Given the description of an element on the screen output the (x, y) to click on. 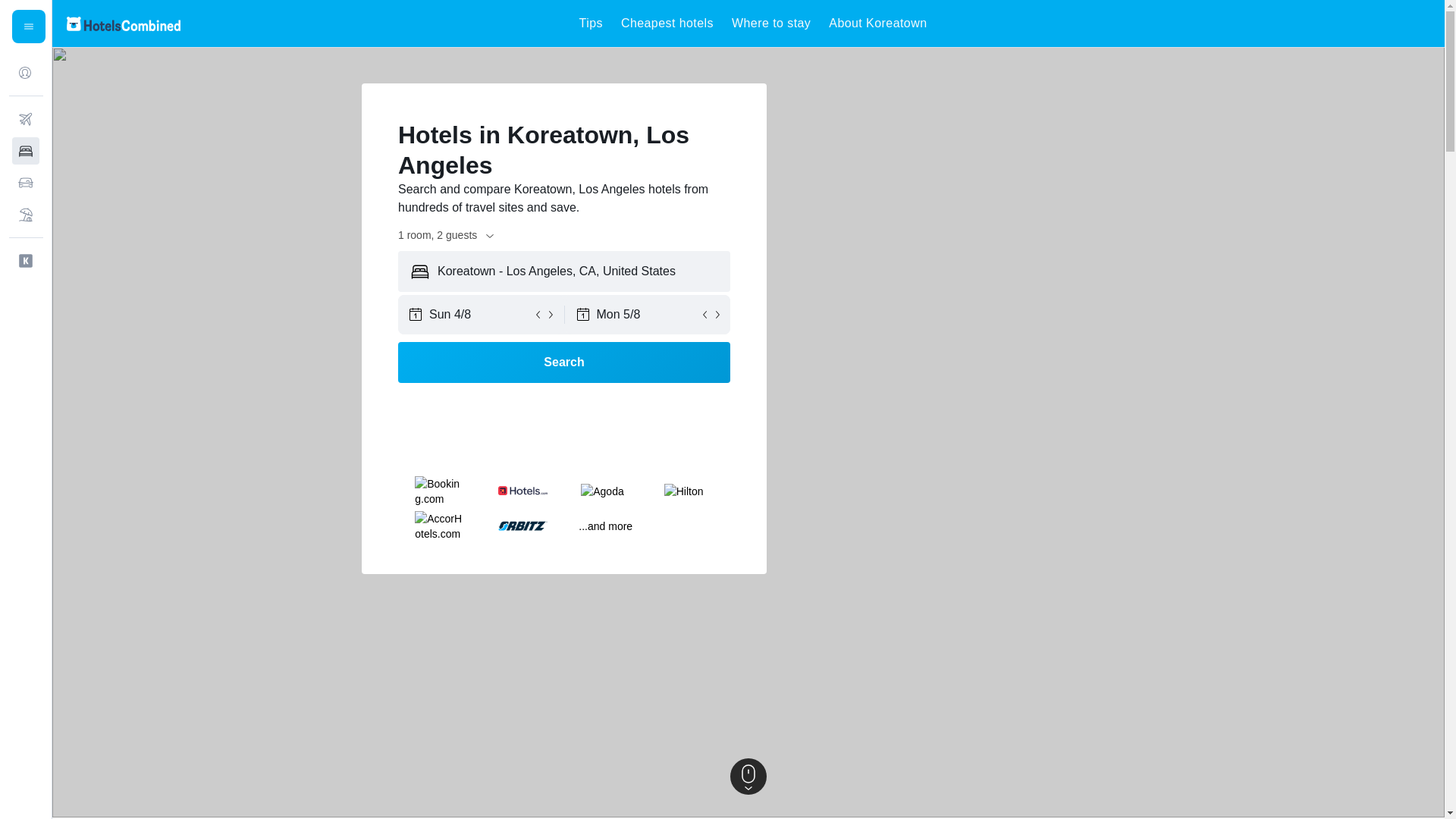
1 room, 2 guests (446, 235)
Search (563, 362)
Search (563, 362)
